Given the description of an element on the screen output the (x, y) to click on. 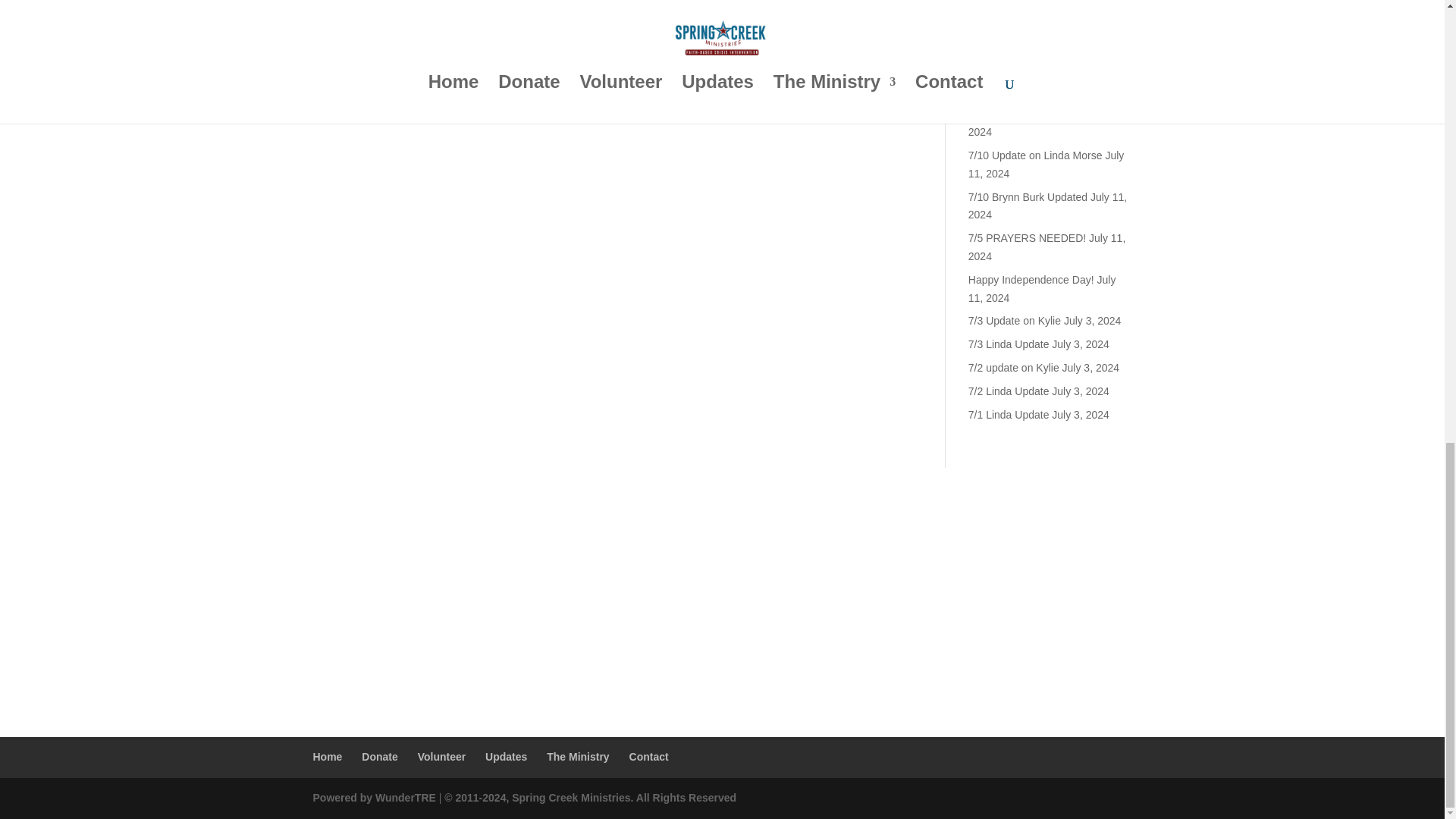
Happy Independence Day! (1031, 279)
The Ministry (577, 756)
Subscribe (1020, 2)
Home (327, 756)
Donate (379, 756)
Comment Form (616, 74)
Volunteer (441, 756)
Mailchimp - email marketing made easy and fun (1257, 47)
Subscribe (1020, 2)
Updates (505, 756)
